Given the description of an element on the screen output the (x, y) to click on. 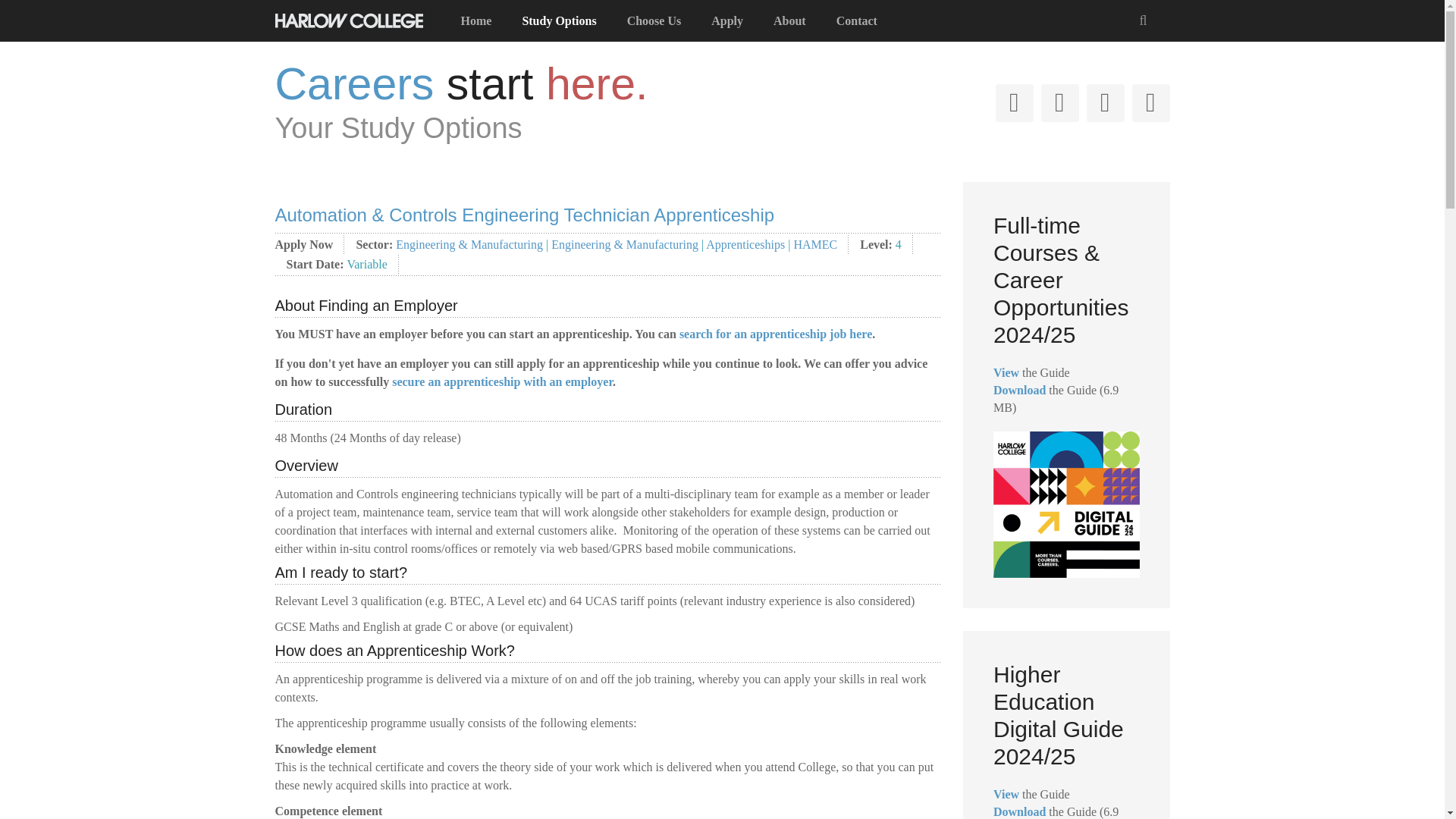
See us on Facebook (1059, 103)
Apply (726, 20)
Download the Harlow College Digital Full-time Guide 2024-25 (1018, 390)
secure an apprenticeship with an employer (501, 381)
See us on Instagram (1105, 103)
See us on Twitter (1013, 103)
Harlow College (348, 18)
Home (475, 20)
Download the Harlow College Digital Full-time Guide 2024-25 (1018, 811)
